Given the description of an element on the screen output the (x, y) to click on. 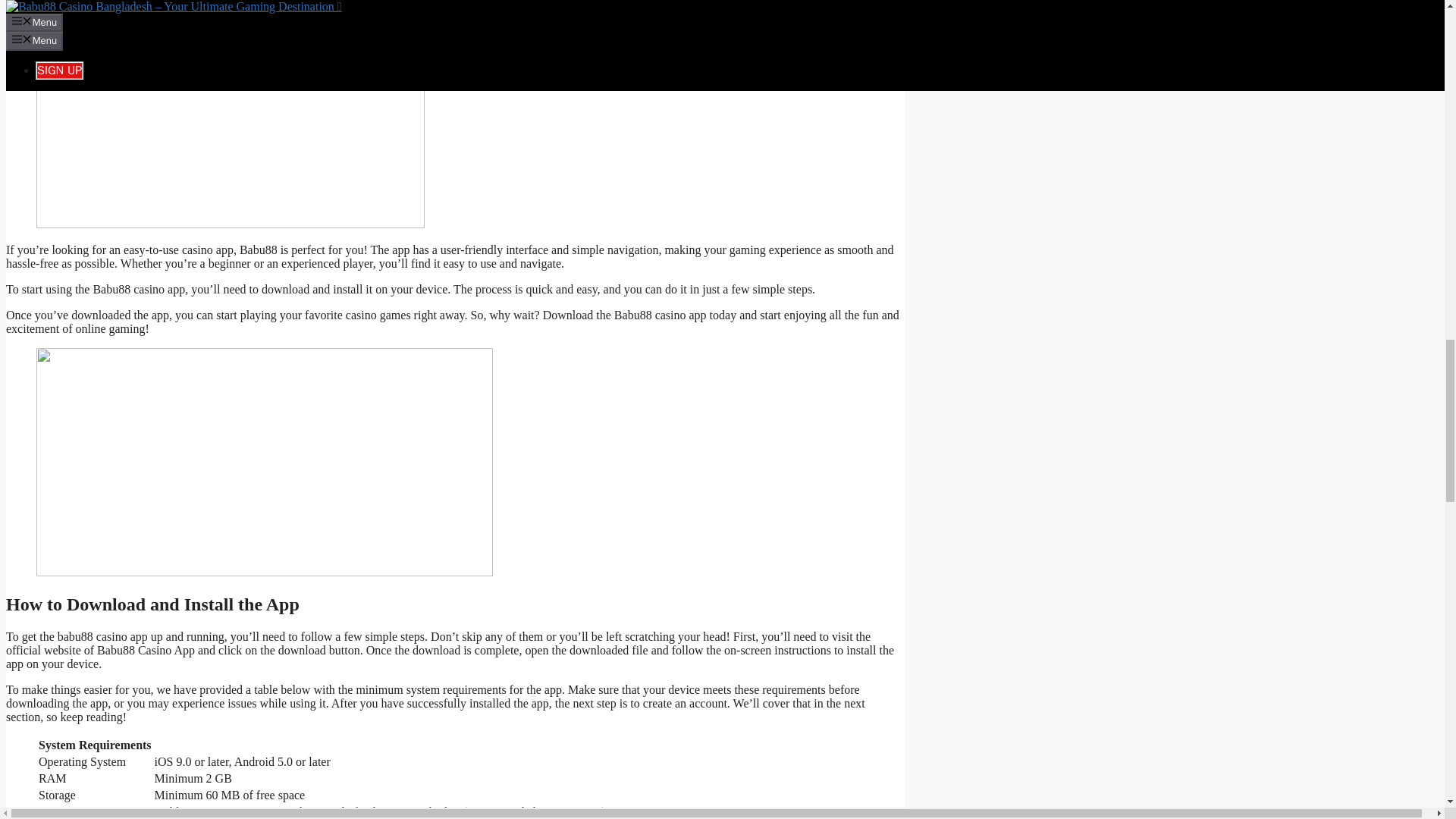
Download Babu88 App (62, 14)
